Given the description of an element on the screen output the (x, y) to click on. 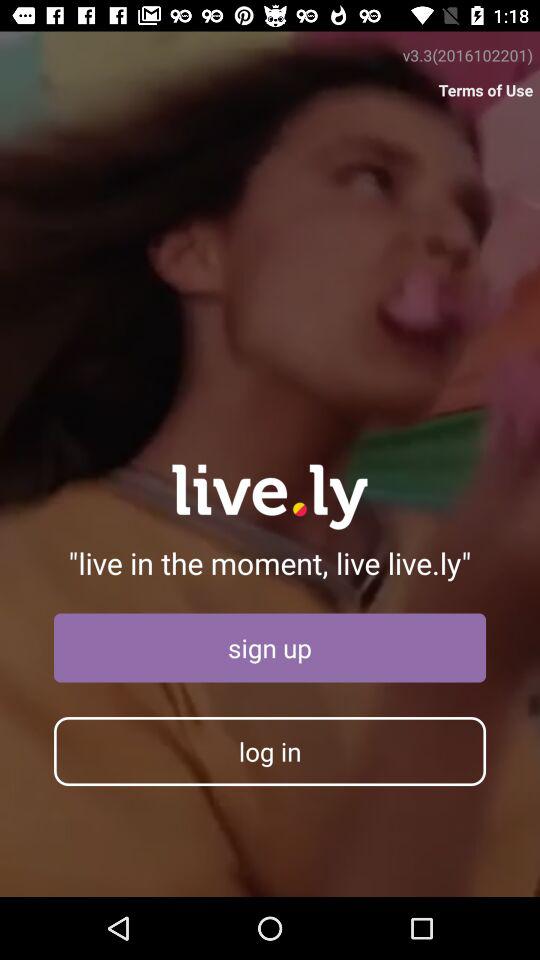
press the sign up icon (269, 647)
